Given the description of an element on the screen output the (x, y) to click on. 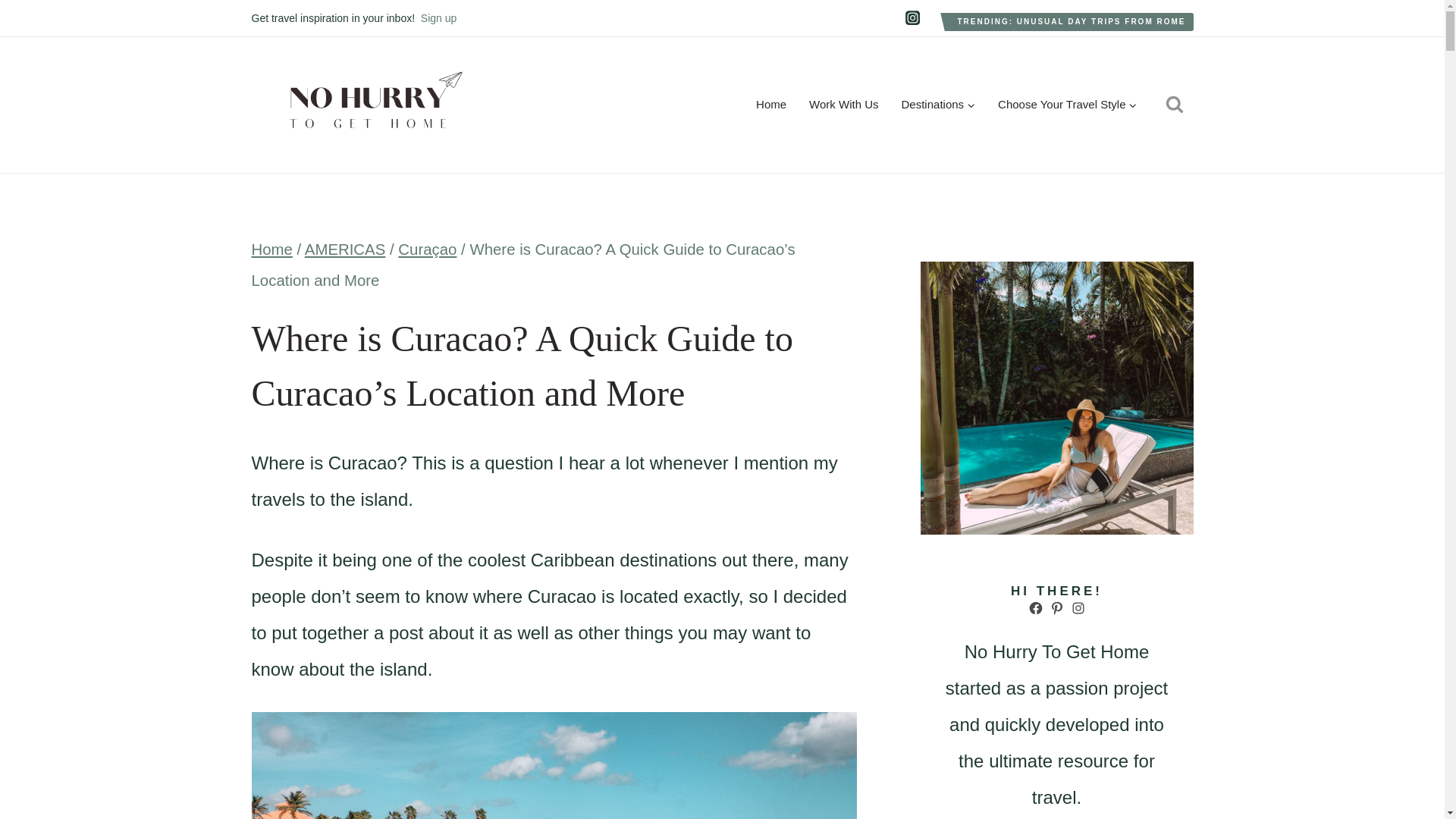
Destinations (938, 104)
Home (770, 104)
Work With Us (843, 104)
TRENDING: UNUSUAL DAY TRIPS FROM ROME (1070, 22)
Sign up (438, 18)
